Given the description of an element on the screen output the (x, y) to click on. 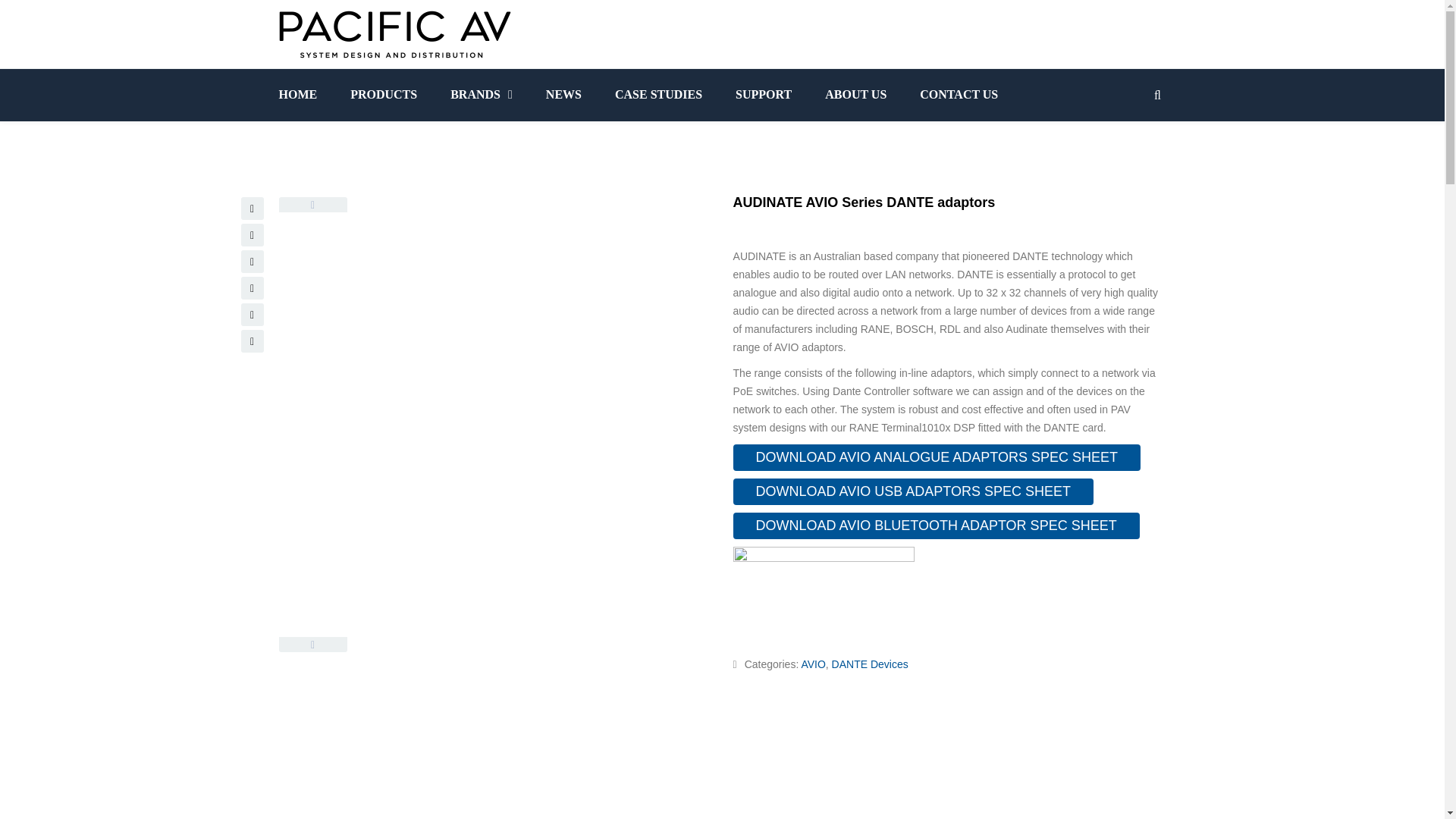
PRODUCTS (383, 94)
HOME (306, 94)
SUPPORT (763, 94)
CASE STUDIES (658, 94)
NEWS (563, 94)
BRANDS (481, 94)
Pacific AV (395, 34)
ABOUT US (855, 94)
CONTACT US (958, 94)
